Given the description of an element on the screen output the (x, y) to click on. 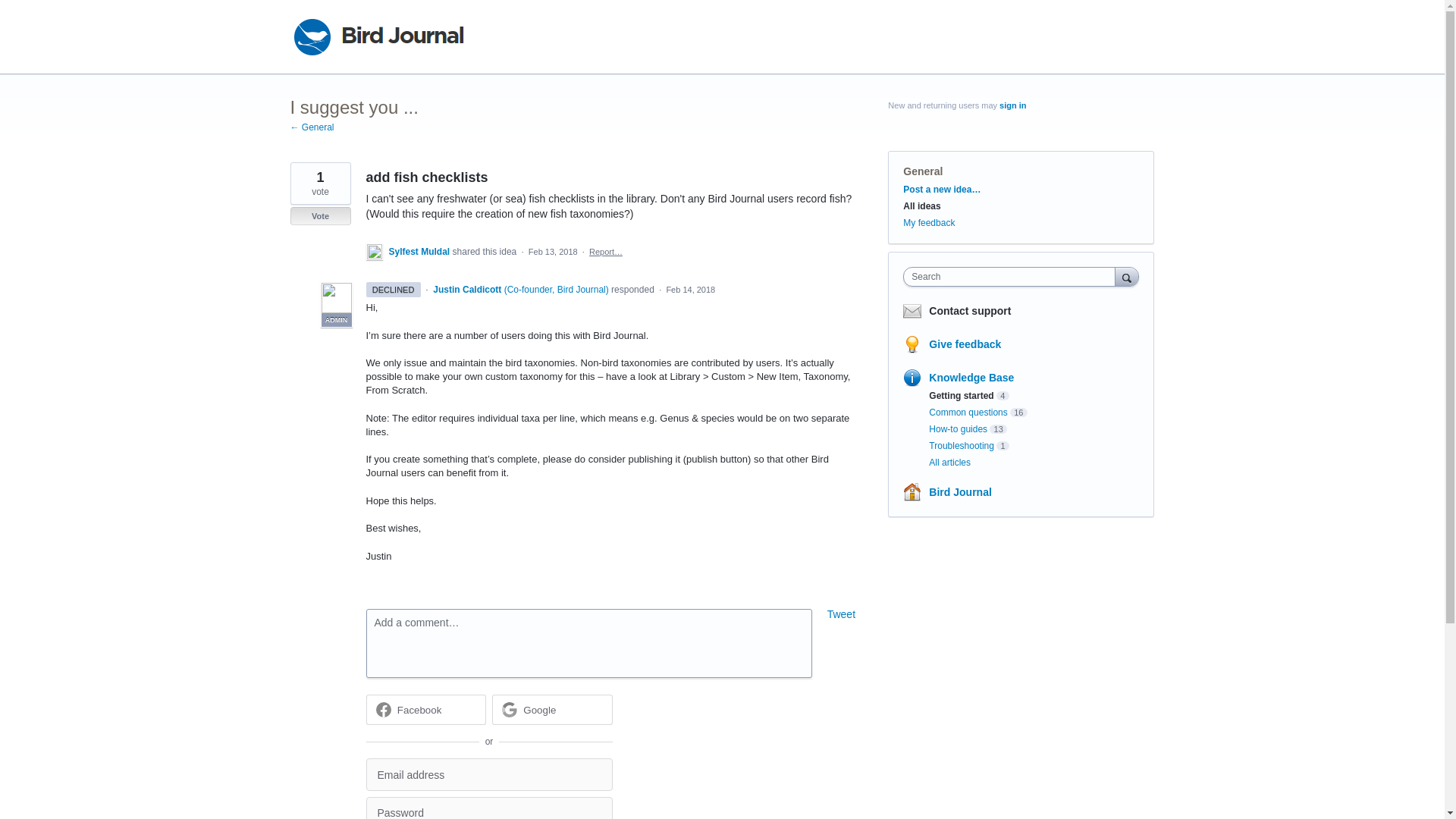
Google (539, 709)
Skip to content (12, 12)
Google sign in (552, 709)
Google (552, 709)
This idea is declined - updated over 6 years ago (392, 289)
Facebook sign in (425, 709)
Facebook (419, 709)
Facebook (425, 709)
Customer Feedback for Bird Journal (378, 36)
sign in (1012, 104)
DECLINED (392, 289)
Sylfest Muldal (419, 251)
Tweet (841, 613)
Vote (319, 216)
Idea has been closed (319, 216)
